Given the description of an element on the screen output the (x, y) to click on. 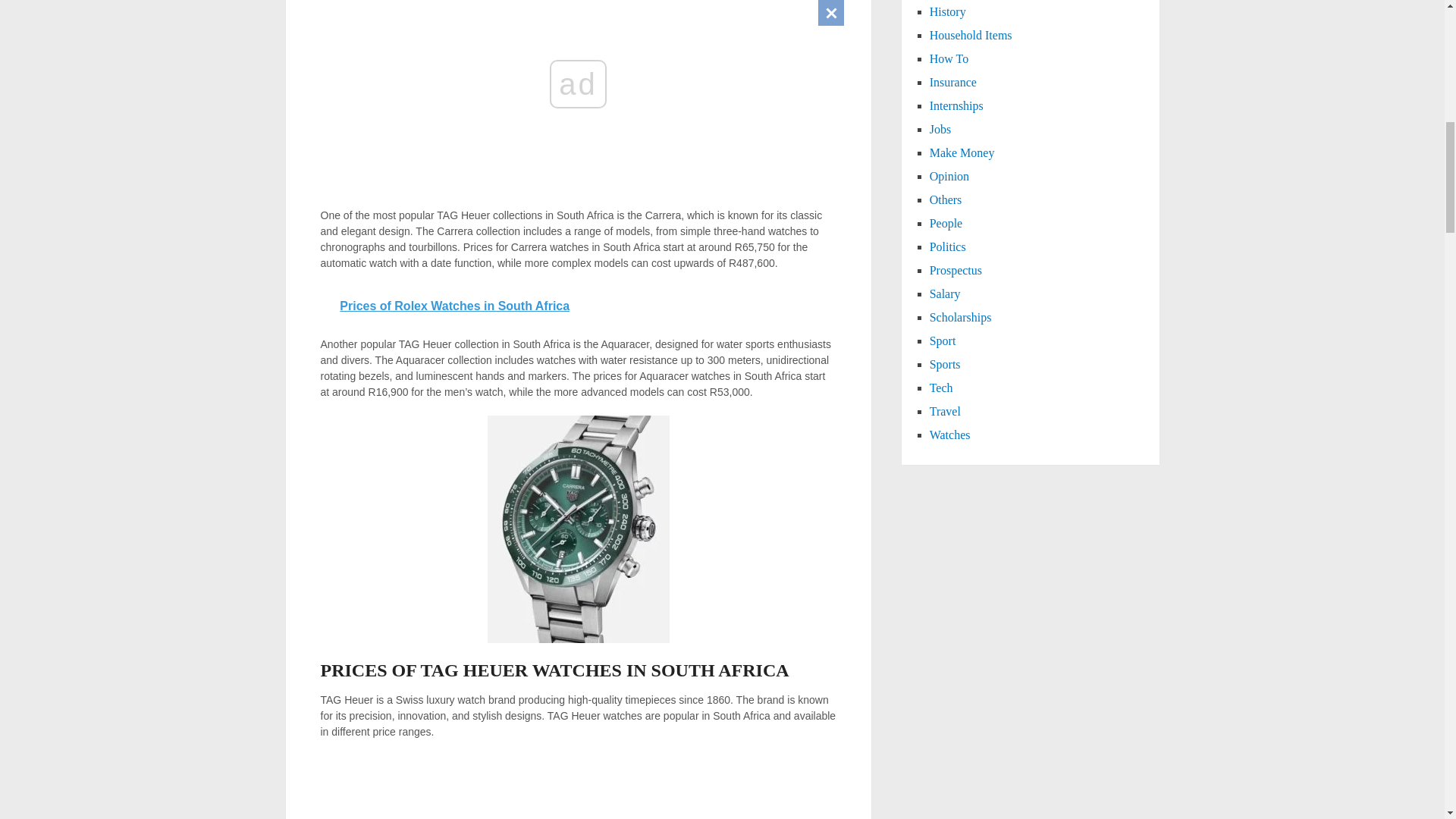
  Prices of Rolex Watches in South Africa (579, 305)
Tag (577, 528)
